Given the description of an element on the screen output the (x, y) to click on. 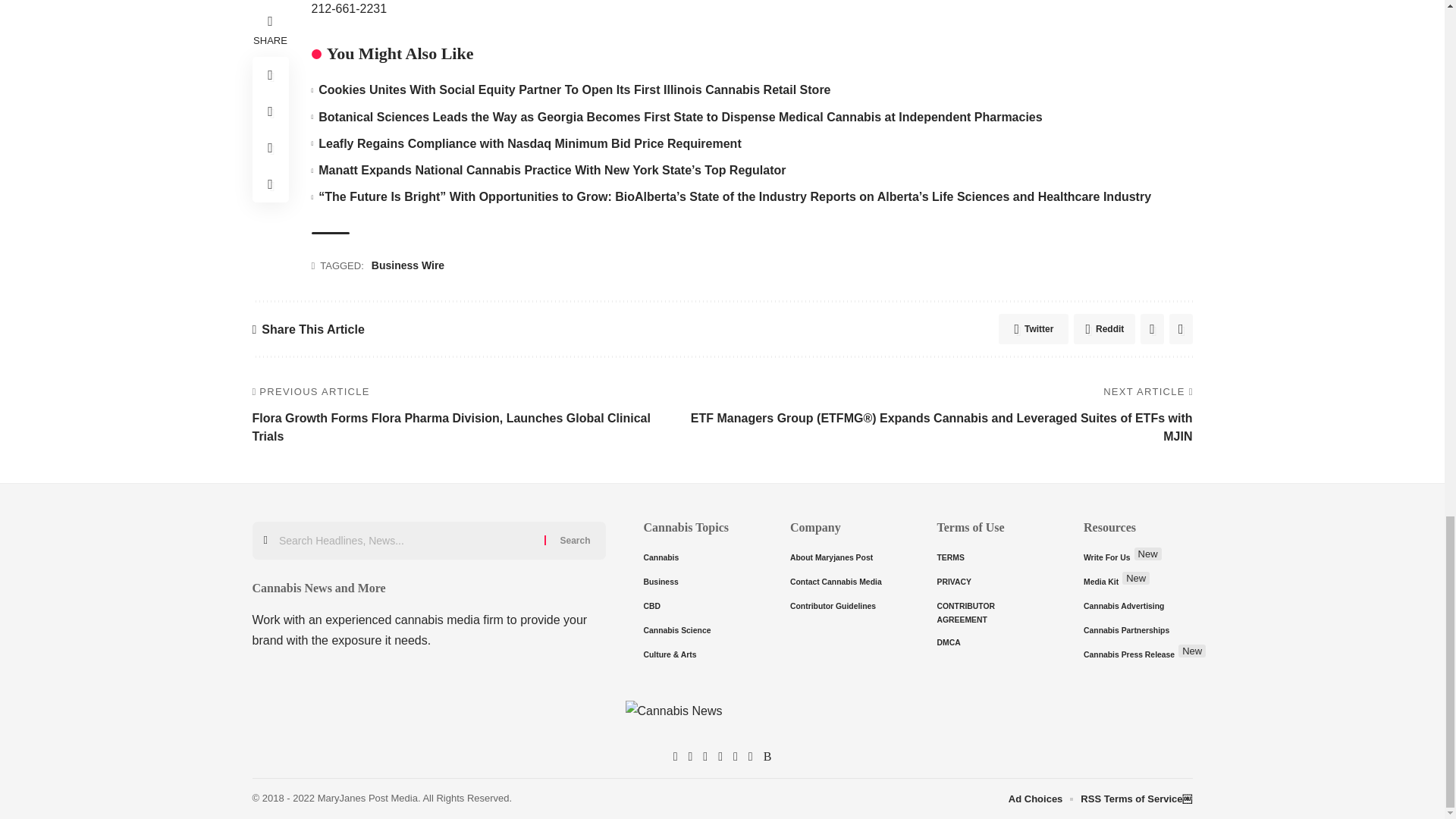
Cannabis News (721, 719)
Search (574, 540)
